Given the description of an element on the screen output the (x, y) to click on. 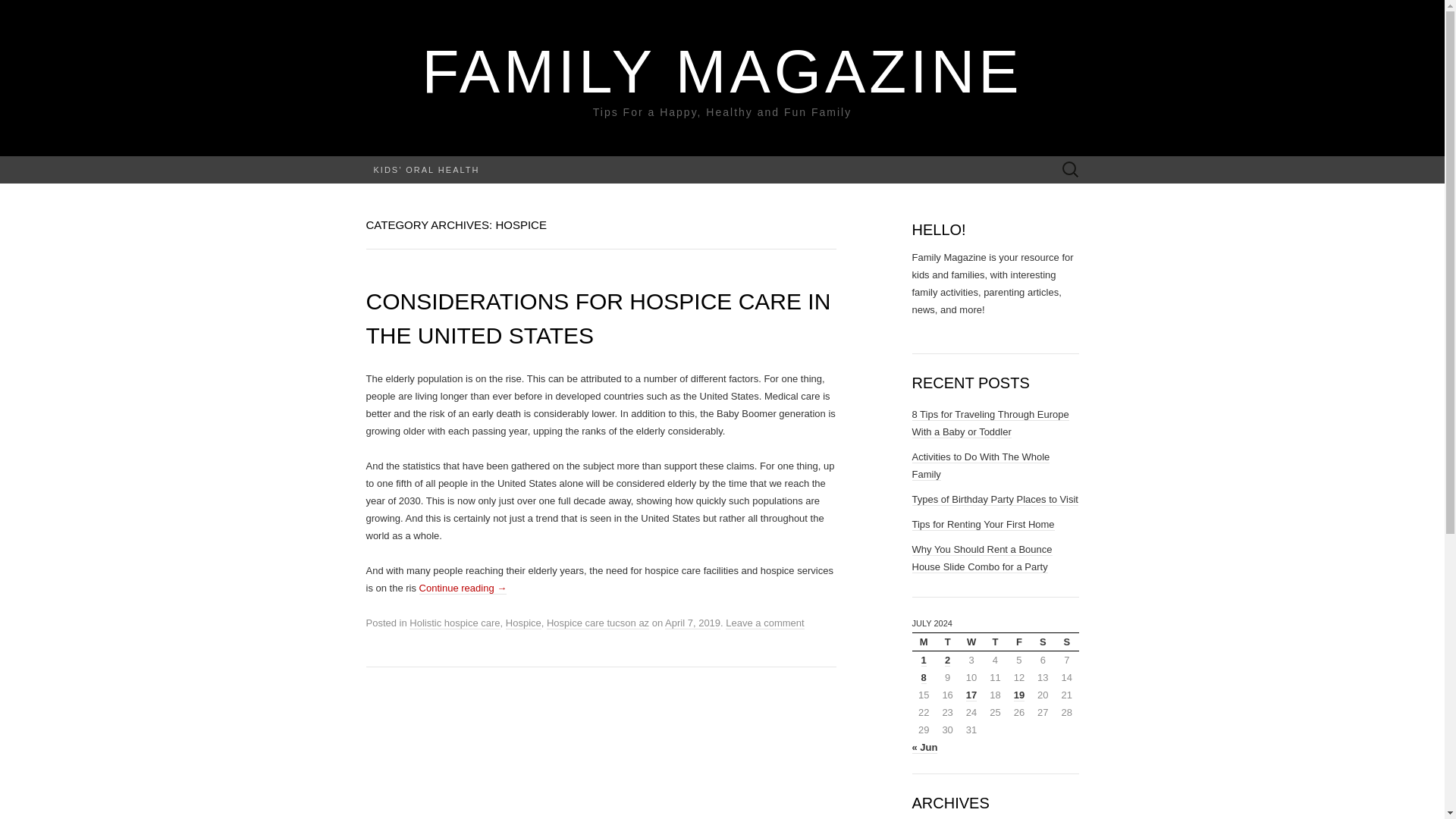
April 7, 2019 (692, 623)
Saturday (1042, 641)
Friday (1018, 641)
Tips for Renting Your First Home (982, 524)
Types of Birthday Party Places to Visit (994, 499)
Hospice care tucson az (598, 623)
Thursday (995, 641)
Search (16, 12)
Family Magazine (722, 71)
Sunday (1066, 641)
Why You Should Rent a Bounce House Slide Combo for a Party (981, 558)
Leave a comment (764, 623)
6:50 pm (692, 623)
CONSIDERATIONS FOR HOSPICE CARE IN THE UNITED STATES (597, 318)
Monday (922, 641)
